Given the description of an element on the screen output the (x, y) to click on. 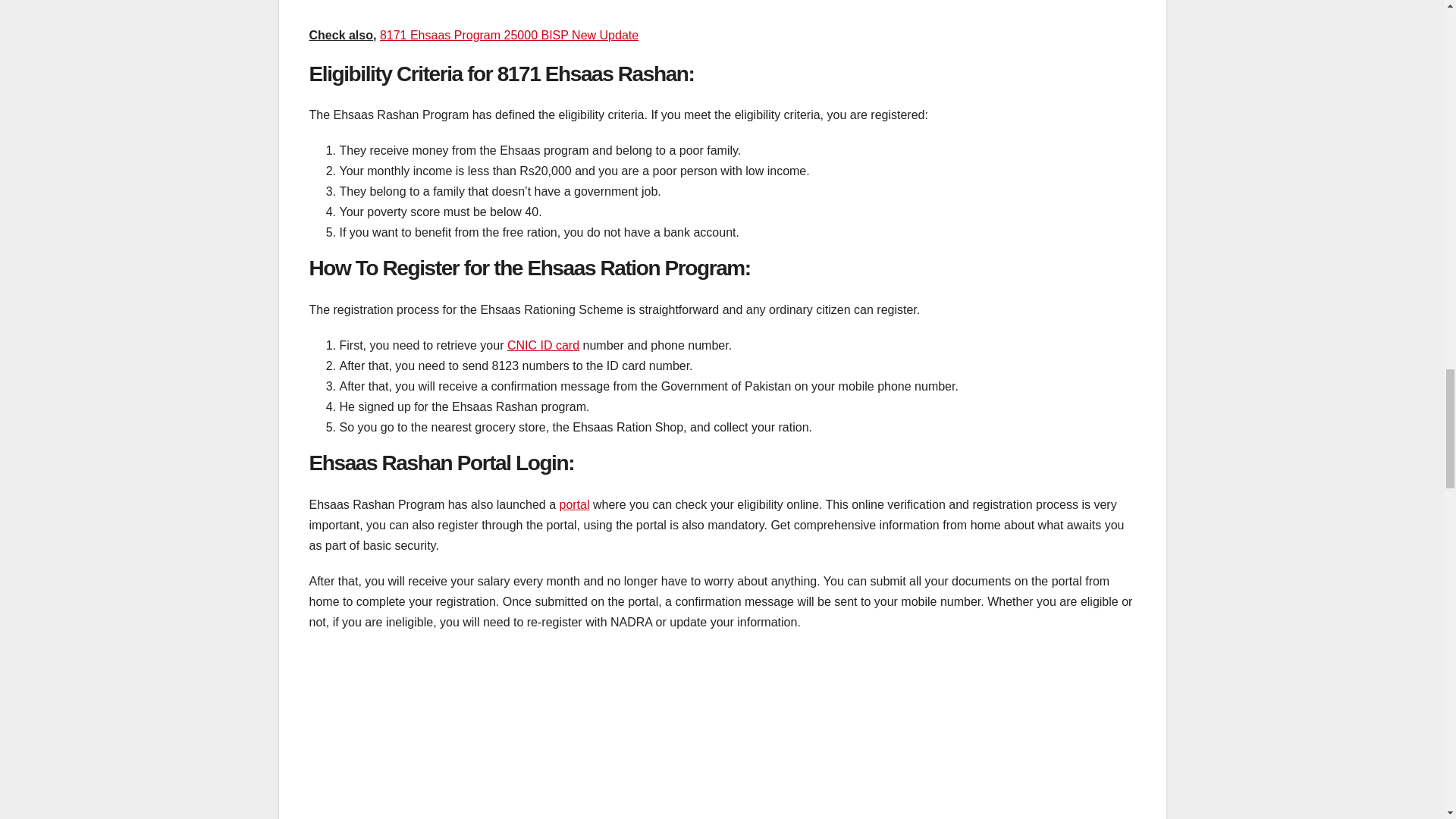
8171 Ehsaas Program 25000 BISP New Update (509, 34)
